Given the description of an element on the screen output the (x, y) to click on. 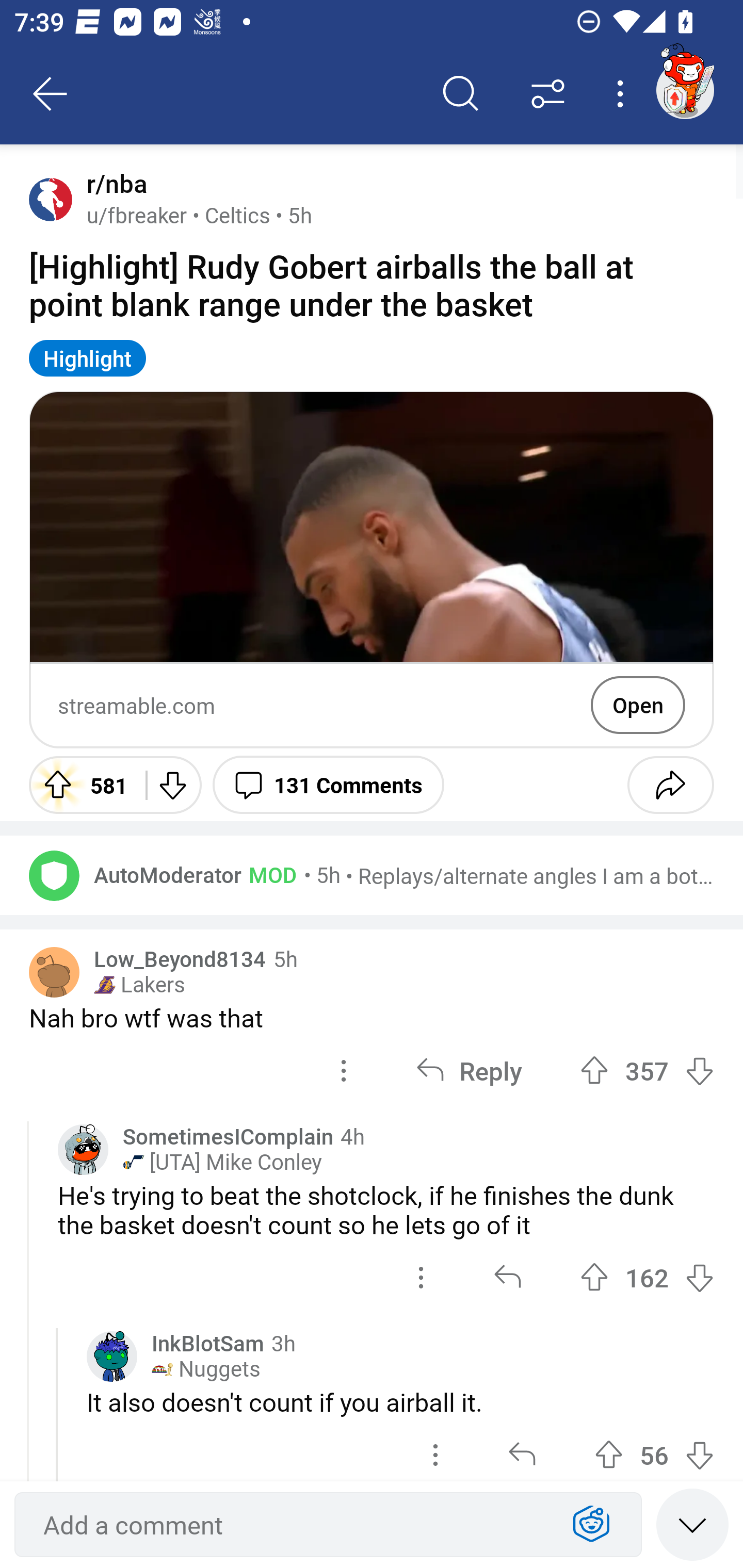
Back (50, 93)
TestAppium002 account (685, 90)
Search comments (460, 93)
Sort comments (547, 93)
More options (623, 93)
r/nba (113, 183)
Avatar (50, 199)
Highlight (87, 358)
Preview Image streamable.com Open (371, 568)
Open (637, 704)
Upvote 581 (79, 784)
Downvote (171, 784)
131 Comments (328, 784)
Share (670, 784)
Avatar (53, 874)
MOD (268, 874)
Avatar (53, 972)
￼ Lakers (139, 984)
Nah bro wtf was that (371, 1017)
options (343, 1070)
Reply (469, 1070)
Upvote 357 357 votes Downvote (647, 1070)
Custom avatar (82, 1149)
￼ [UTA] Mike Conley (222, 1161)
options (420, 1277)
Upvote 162 162 votes Downvote (647, 1277)
Custom avatar (111, 1356)
￼ Nuggets (205, 1368)
It also doesn't count if you airball it. (400, 1401)
options (435, 1450)
Upvote 56 56 votes Downvote (654, 1450)
Speed read (692, 1524)
Add a comment (291, 1524)
Show Expressions (590, 1524)
